Given the description of an element on the screen output the (x, y) to click on. 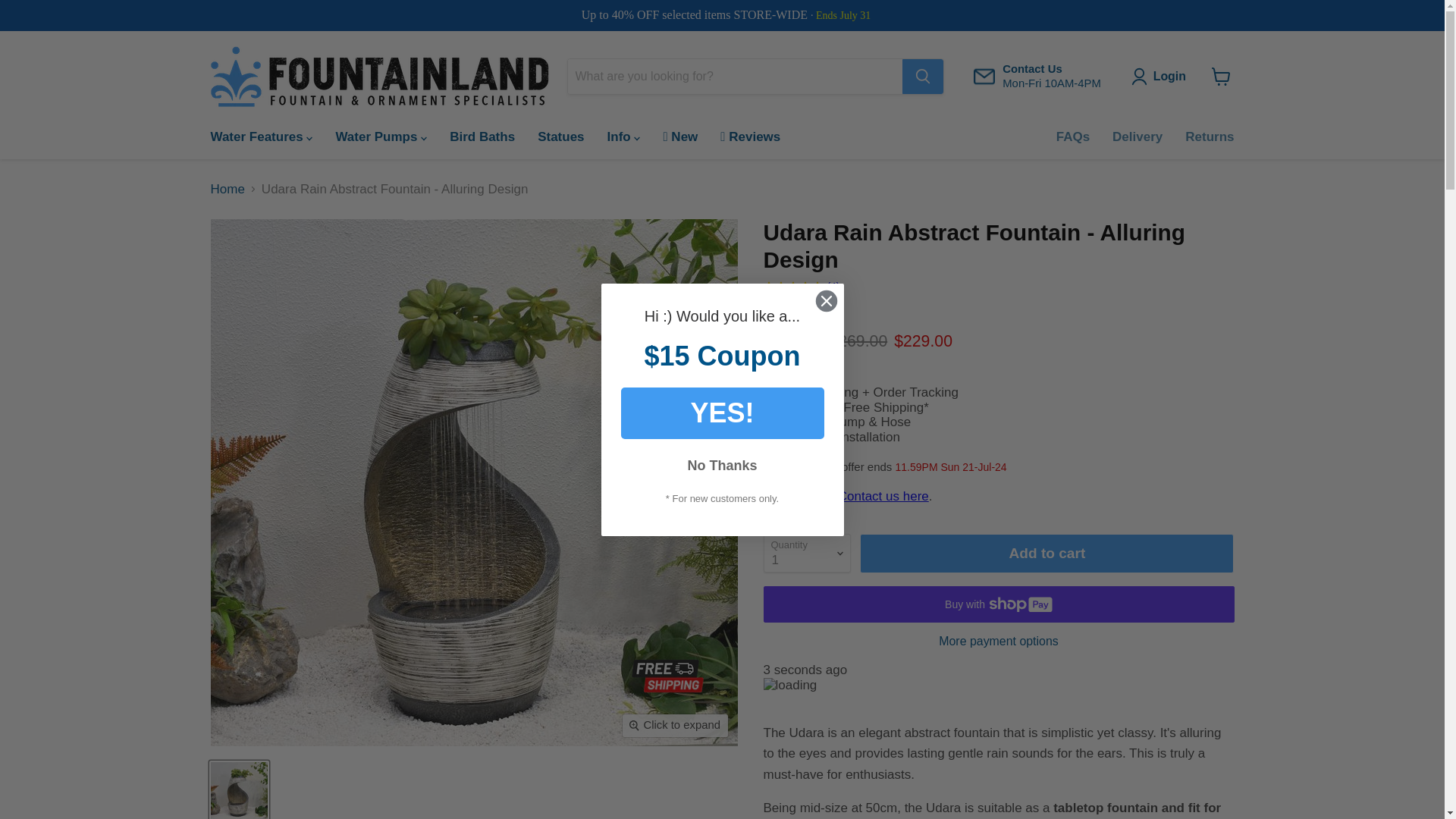
Login (1037, 76)
View cart (1169, 76)
